Given the description of an element on the screen output the (x, y) to click on. 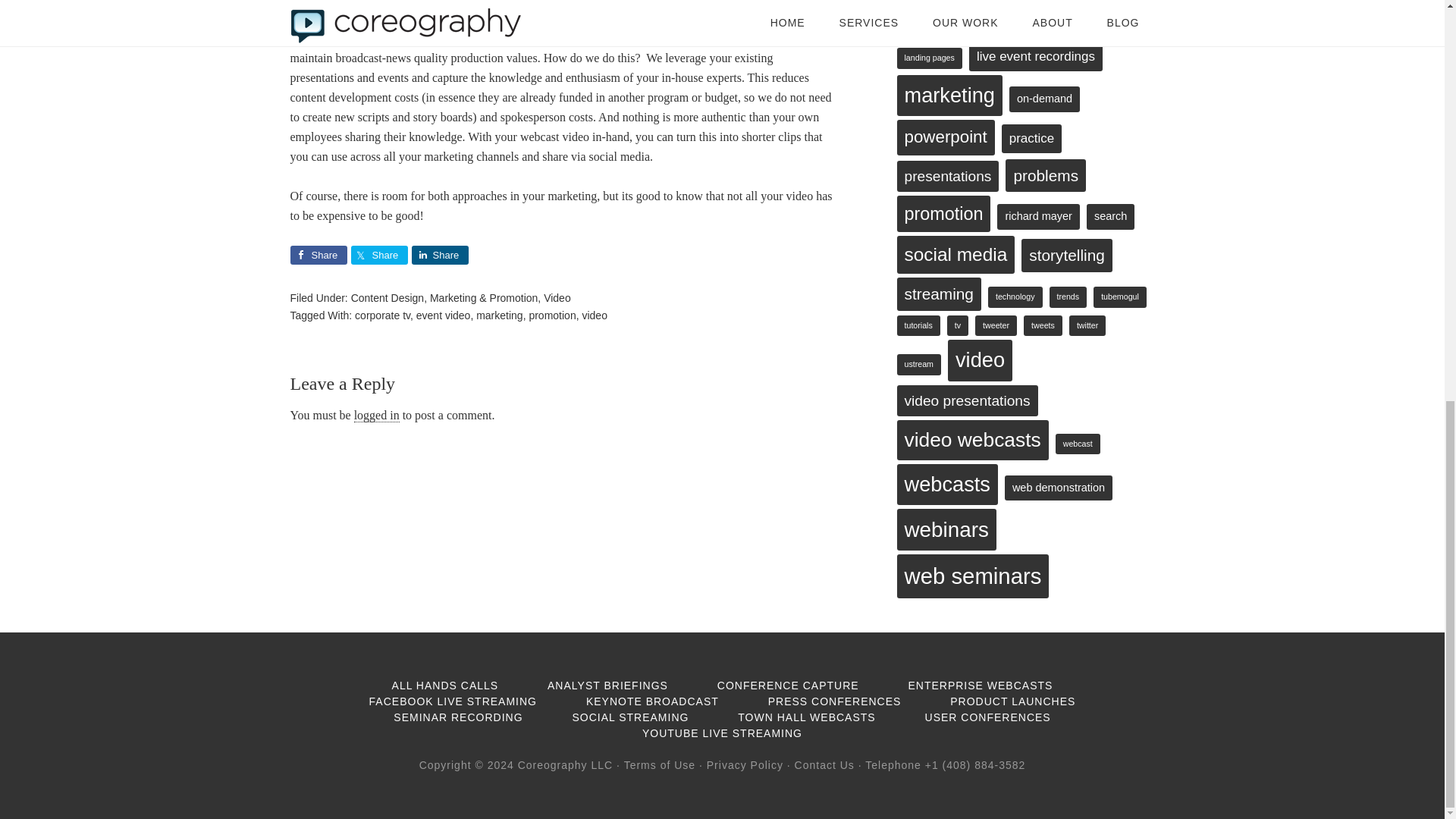
logged in (375, 415)
event video (443, 315)
Content Design (387, 297)
Share (438, 254)
Share (378, 254)
corporate tv (382, 315)
Share (317, 254)
Video (556, 297)
marketing (499, 315)
Corporate Video Budgets (562, 4)
video (593, 315)
promotion (551, 315)
